Given the description of an element on the screen output the (x, y) to click on. 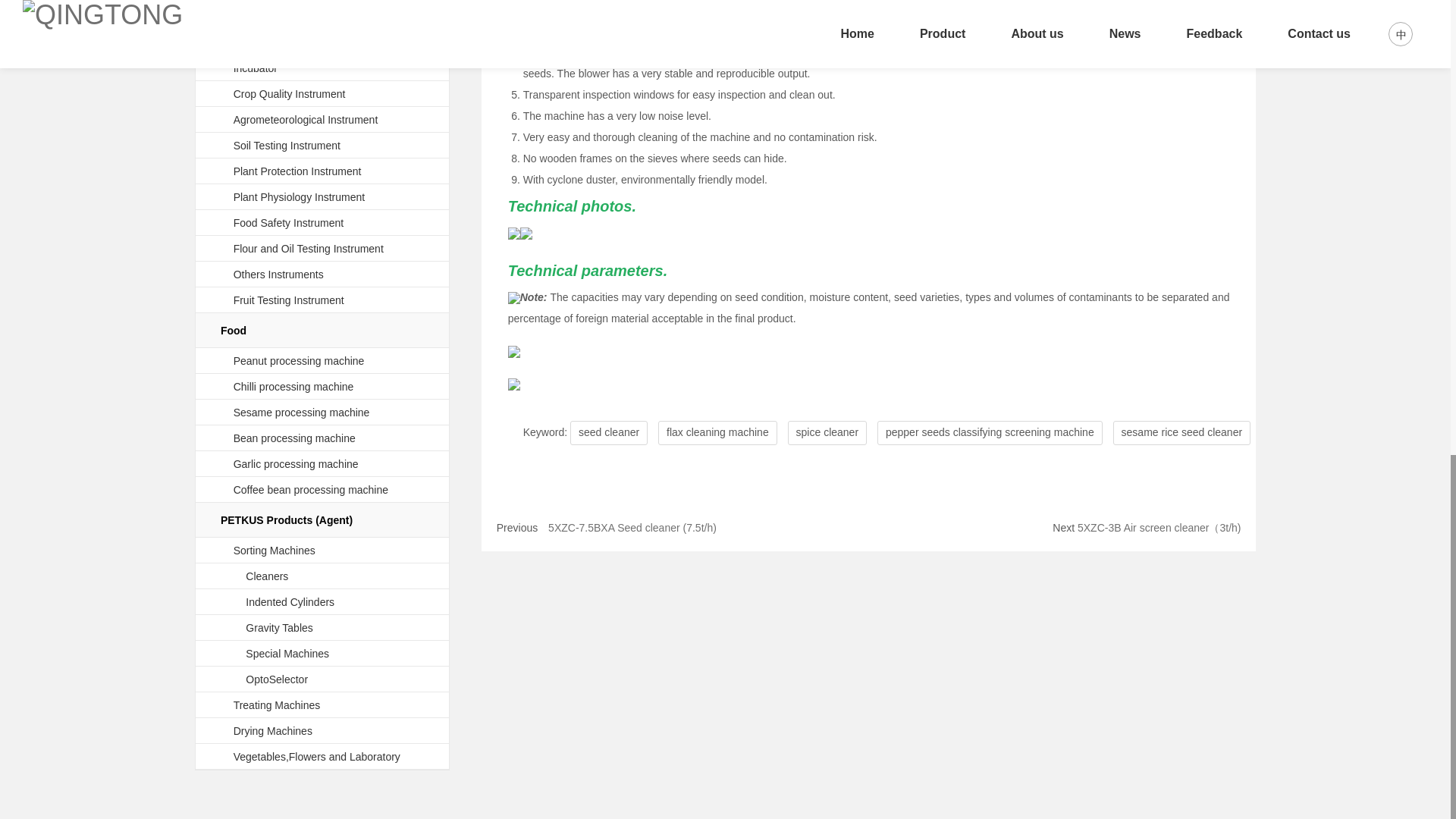
Linkedin (162, 757)
QINGTONG (241, 646)
youtube (283, 757)
Tumblr (222, 757)
Twitter (192, 757)
webdesign (302, 720)
Pinterest (253, 757)
QINGTONG (1284, 660)
Facebook (131, 757)
